Given the description of an element on the screen output the (x, y) to click on. 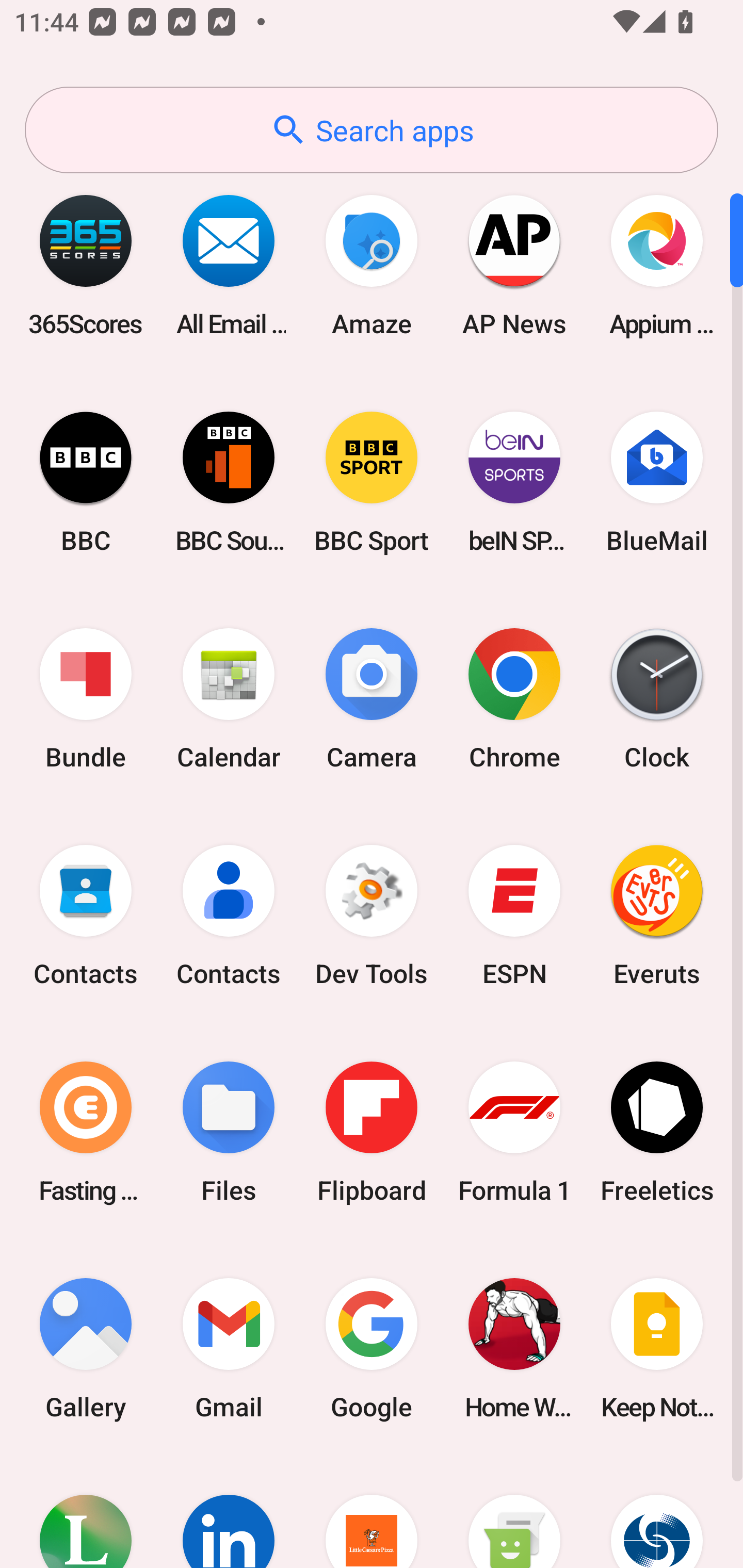
  Search apps (371, 130)
365Scores (85, 264)
All Email Connect (228, 264)
Amaze (371, 264)
AP News (514, 264)
Appium Settings (656, 264)
BBC (85, 482)
BBC Sounds (228, 482)
BBC Sport (371, 482)
beIN SPORTS (514, 482)
BlueMail (656, 482)
Bundle (85, 699)
Calendar (228, 699)
Camera (371, 699)
Chrome (514, 699)
Clock (656, 699)
Contacts (85, 915)
Contacts (228, 915)
Dev Tools (371, 915)
ESPN (514, 915)
Everuts (656, 915)
Fasting Coach (85, 1131)
Files (228, 1131)
Flipboard (371, 1131)
Formula 1 (514, 1131)
Freeletics (656, 1131)
Gallery (85, 1348)
Gmail (228, 1348)
Google (371, 1348)
Home Workout (514, 1348)
Keep Notes (656, 1348)
Lifesum (85, 1512)
LinkedIn (228, 1512)
Little Caesars Pizza (371, 1512)
Messaging (514, 1512)
MyObservatory (656, 1512)
